Given the description of an element on the screen output the (x, y) to click on. 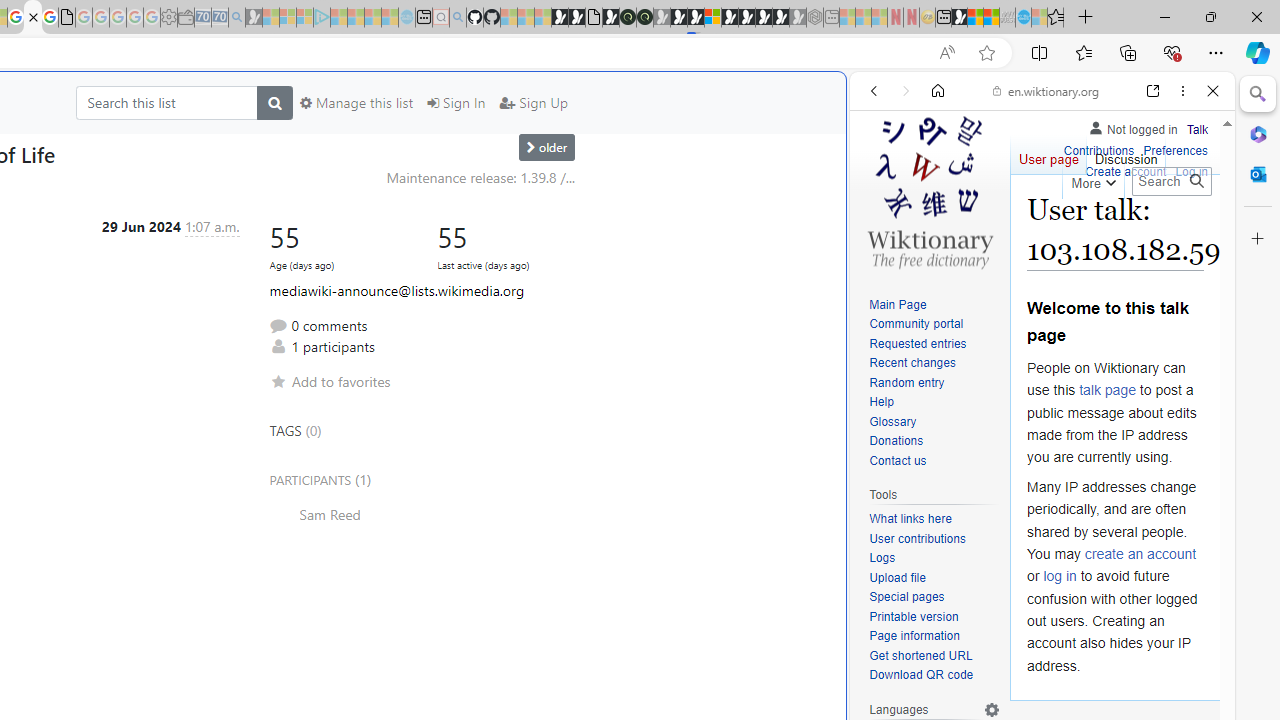
Printable version (913, 616)
User contributions (934, 539)
Logs (882, 557)
More (1092, 179)
Main Page (897, 303)
Future Focus Report 2024 (644, 17)
